Given the description of an element on the screen output the (x, y) to click on. 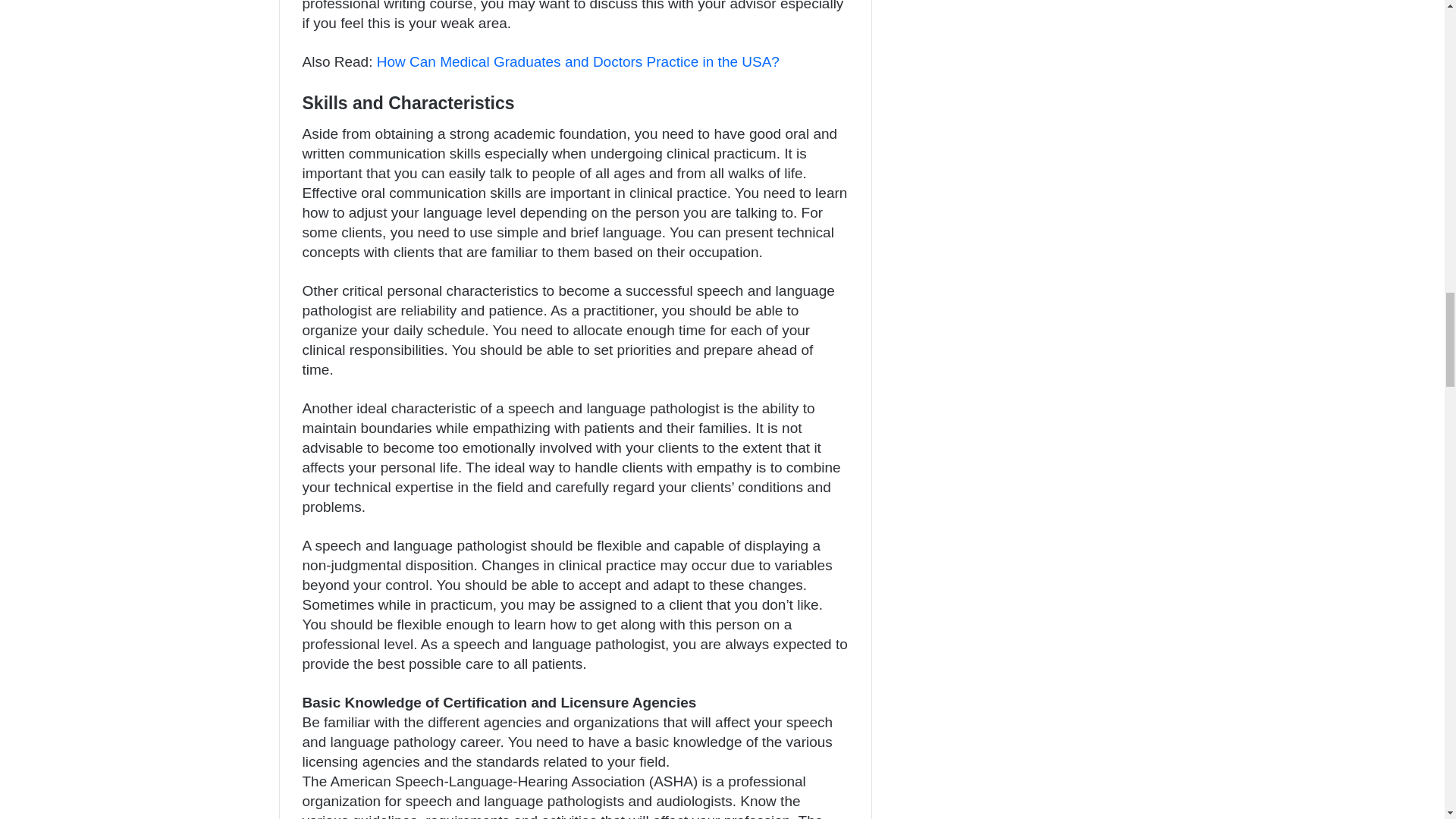
How Can Medical Graduates and Doctors Practice in the USA? (577, 61)
